Given the description of an element on the screen output the (x, y) to click on. 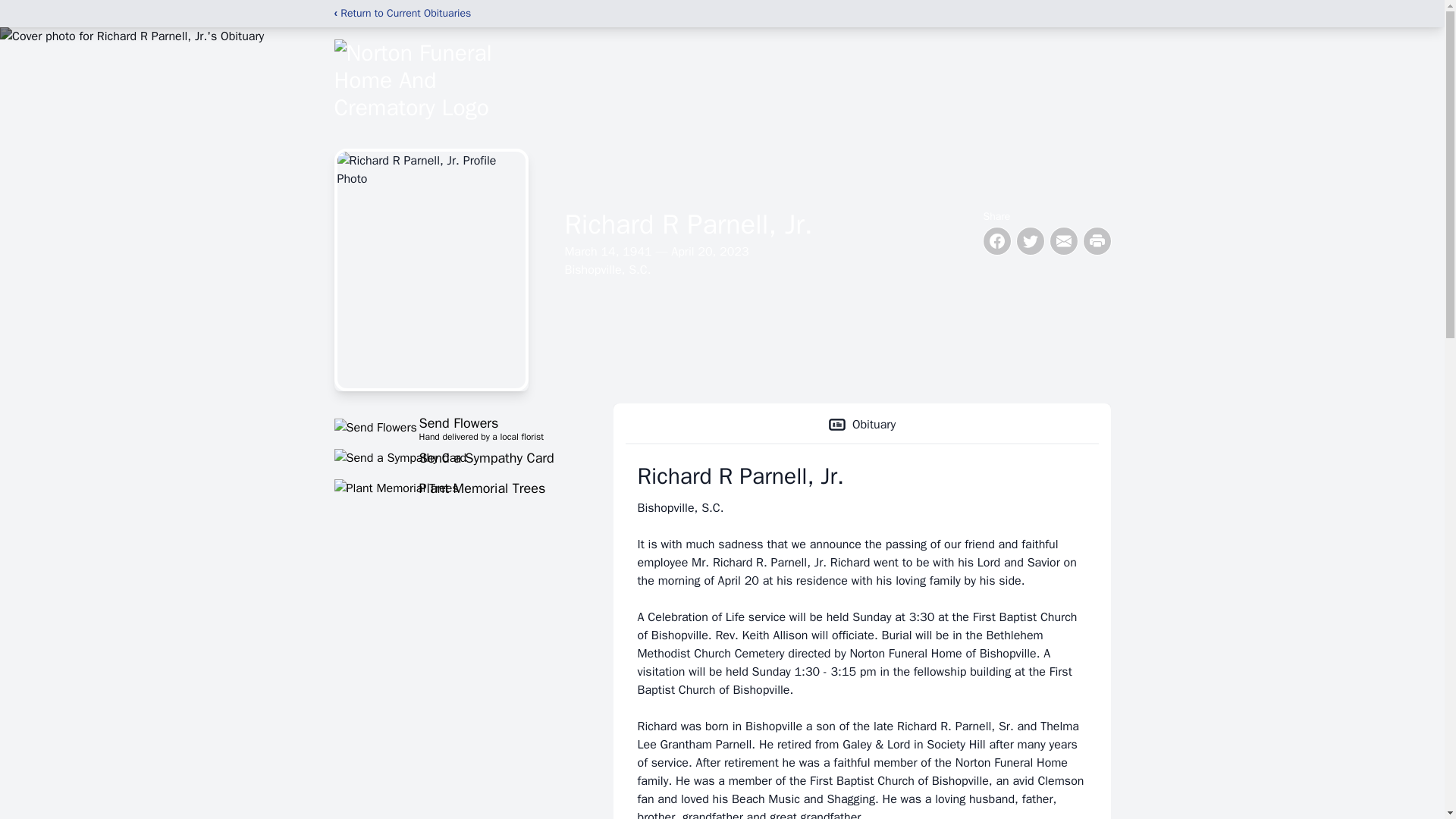
Obituary (860, 425)
Send a Sympathy Card (454, 427)
Plant Memorial Trees (454, 457)
